Given the description of an element on the screen output the (x, y) to click on. 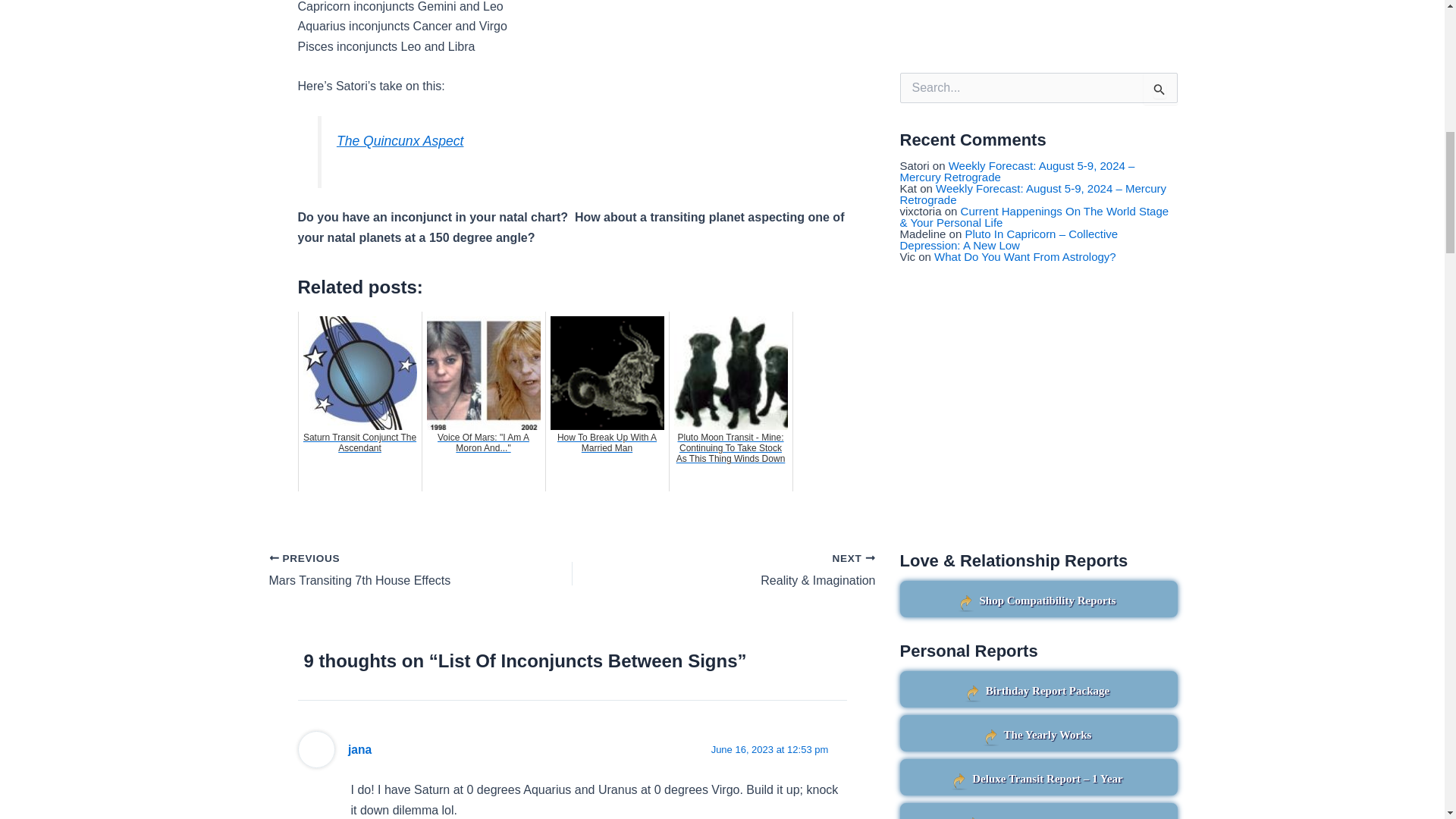
Search (1159, 88)
Mars Transiting 7th House Effects (389, 570)
Search (1159, 88)
